Given the description of an element on the screen output the (x, y) to click on. 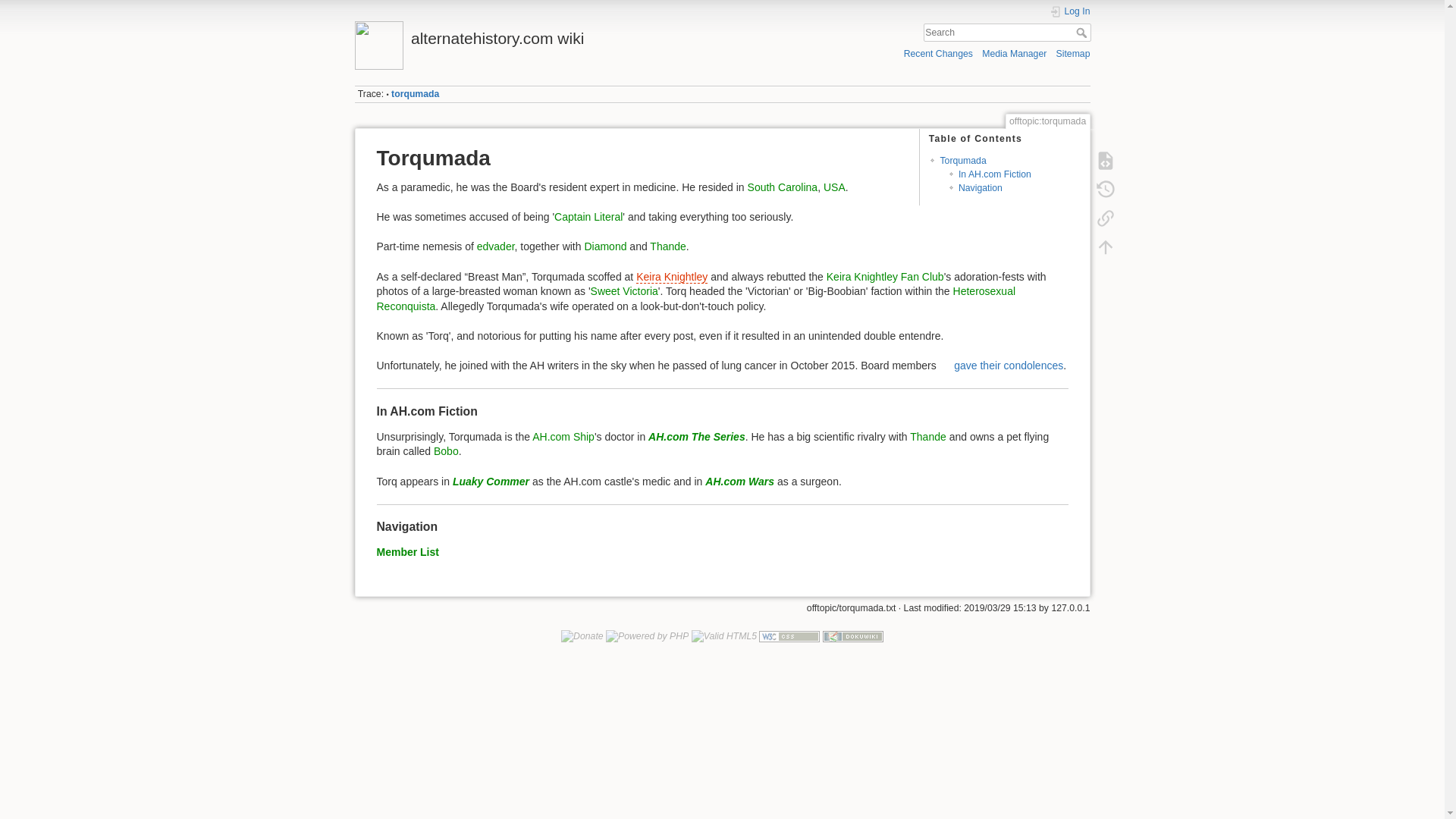
Heterosexual Reconquista (694, 298)
offtopic:torqumada (415, 93)
Thande (927, 436)
alternatehistory.com wiki (534, 34)
offtopic:usa (834, 186)
Log In (1069, 11)
Luaky Commer (490, 481)
Navigation (980, 187)
Diamond (604, 246)
AH.com The Series (696, 436)
